Given the description of an element on the screen output the (x, y) to click on. 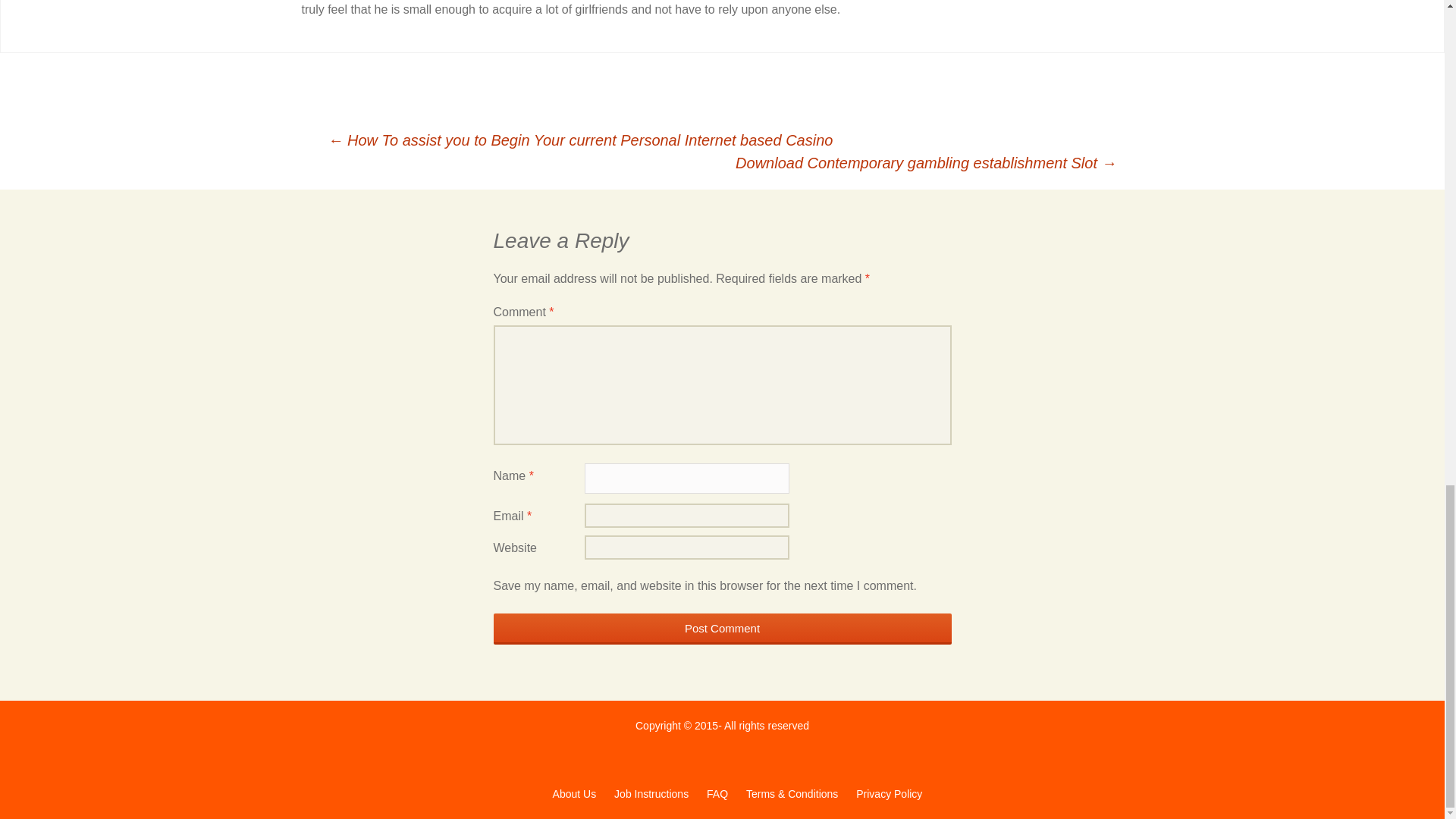
About Us (574, 793)
Semantic Personal Publishing Platform (889, 793)
Semantic Personal Publishing Platform (574, 793)
Post Comment (721, 628)
Post Comment (721, 628)
Privacy Policy (889, 793)
Job Instructions (651, 793)
FAQ (716, 793)
Semantic Personal Publishing Platform (791, 793)
